Given the description of an element on the screen output the (x, y) to click on. 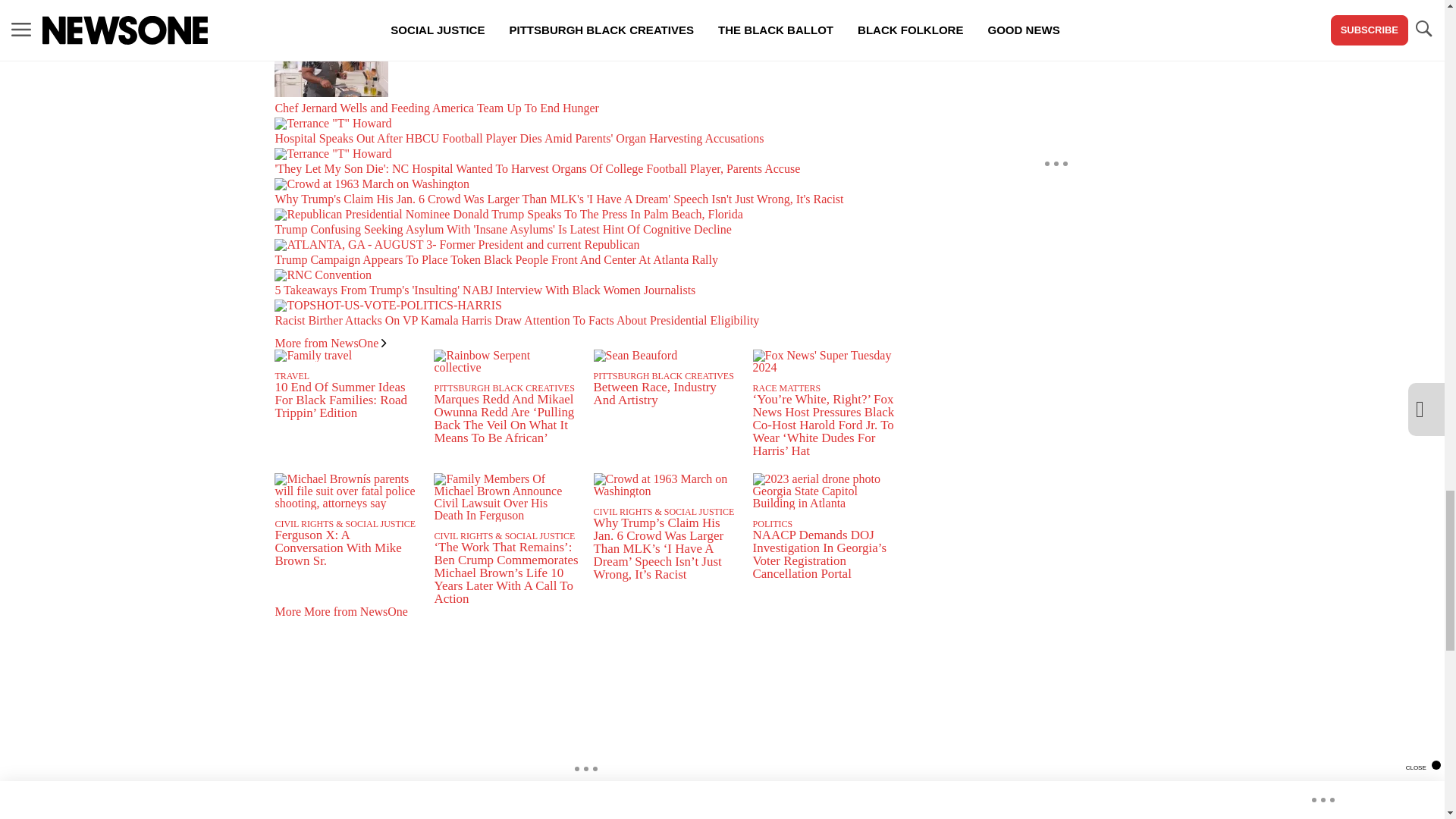
Chef Jernard Wells and Feeding America Team Up To End Hunger (585, 75)
